Given the description of an element on the screen output the (x, y) to click on. 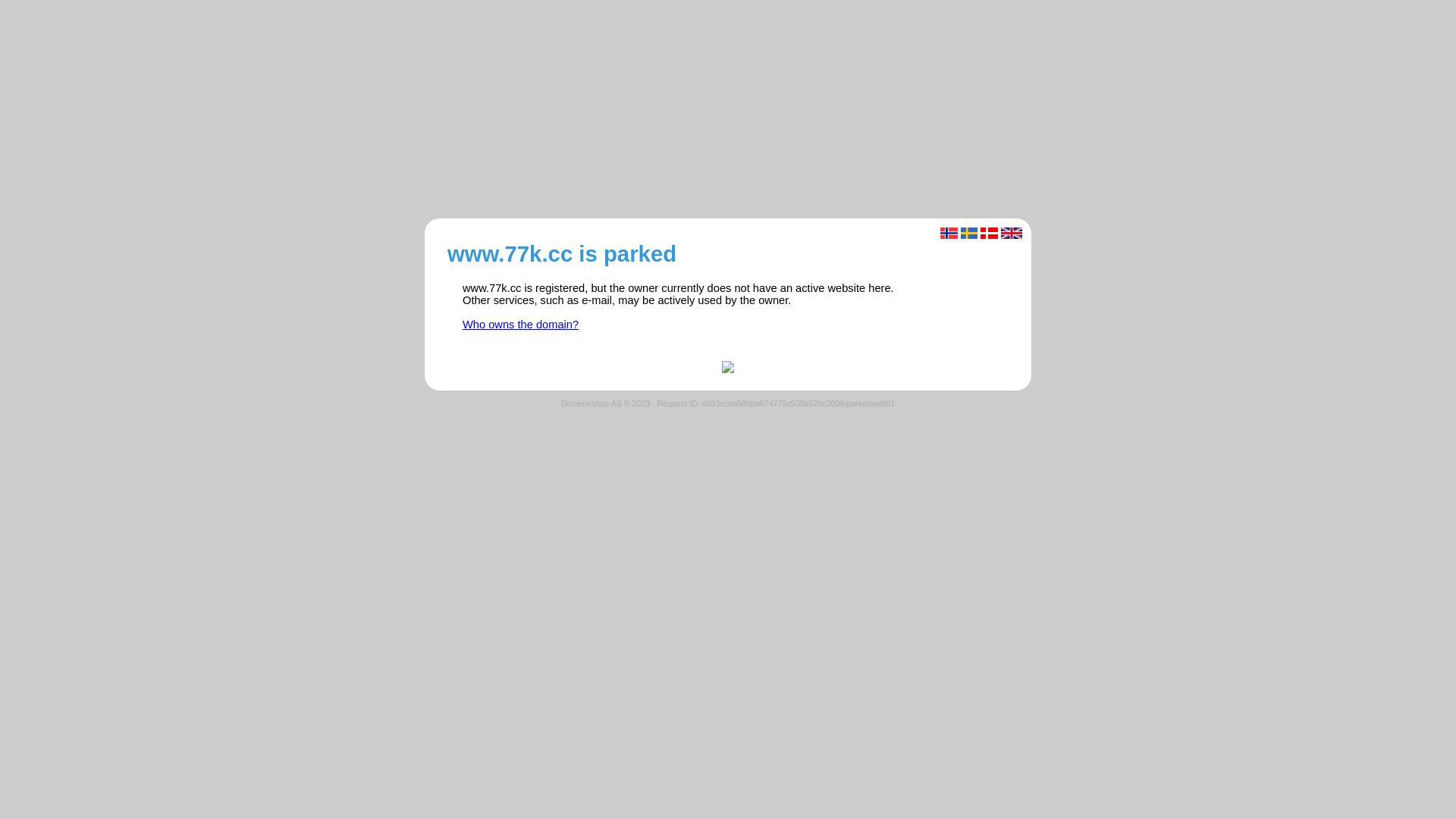
Who owns the domain? Element type: text (520, 324)
English Element type: hover (1011, 232)
Norsk Element type: hover (948, 232)
Dansk Element type: hover (988, 232)
Svenska Element type: hover (968, 232)
